Given the description of an element on the screen output the (x, y) to click on. 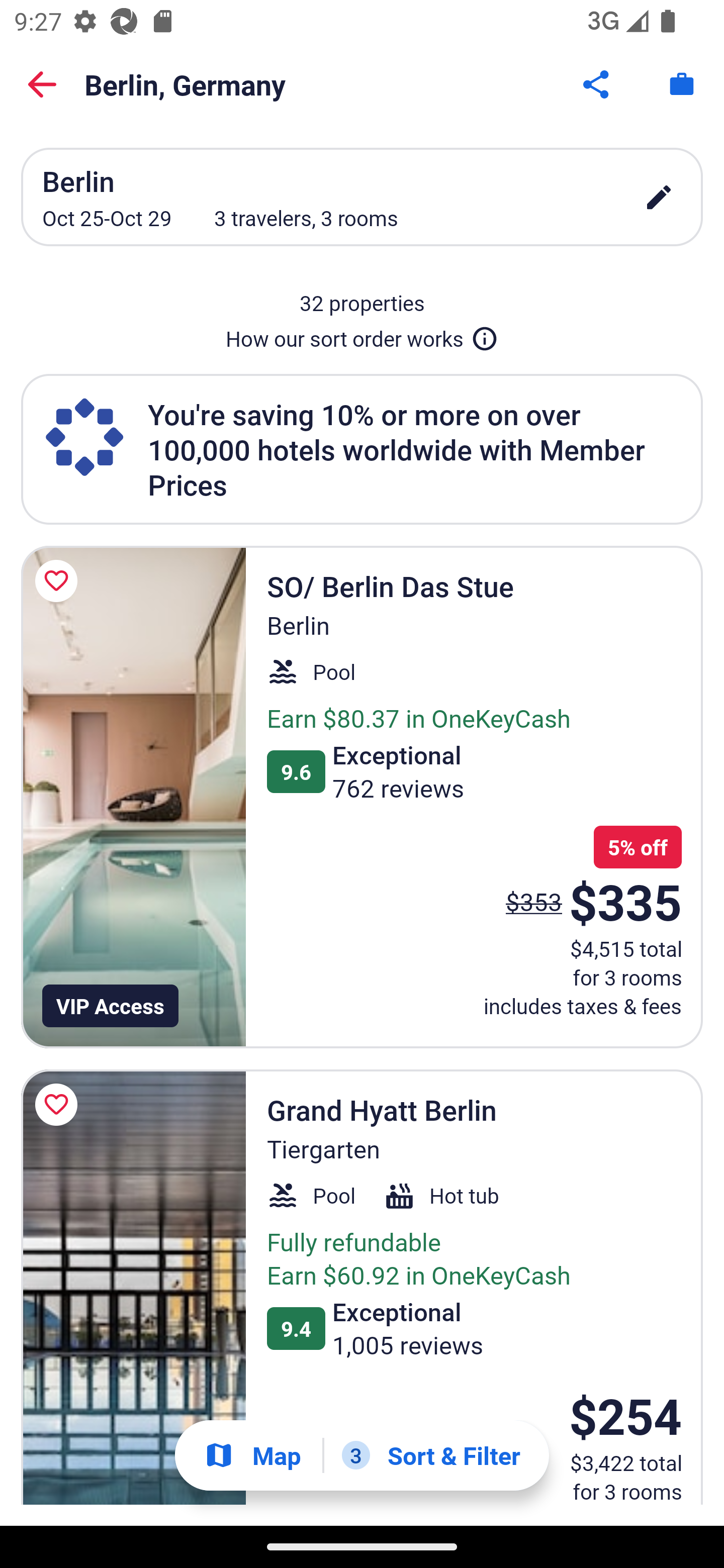
Back (42, 84)
Share Button (597, 84)
Trips. Button (681, 84)
Berlin Oct 25-Oct 29 3 travelers, 3 rooms edit (361, 196)
How our sort order works (361, 334)
Save SO/ Berlin Das Stue to a trip (59, 580)
SO/ Berlin Das Stue (133, 796)
$353 The price was $353 (533, 901)
Save Grand Hyatt Berlin to a trip (59, 1104)
Grand Hyatt Berlin (133, 1287)
3 Sort & Filter 3 Filters applied. Filters Button (430, 1455)
Show map Map Show map Button (252, 1455)
